Given the description of an element on the screen output the (x, y) to click on. 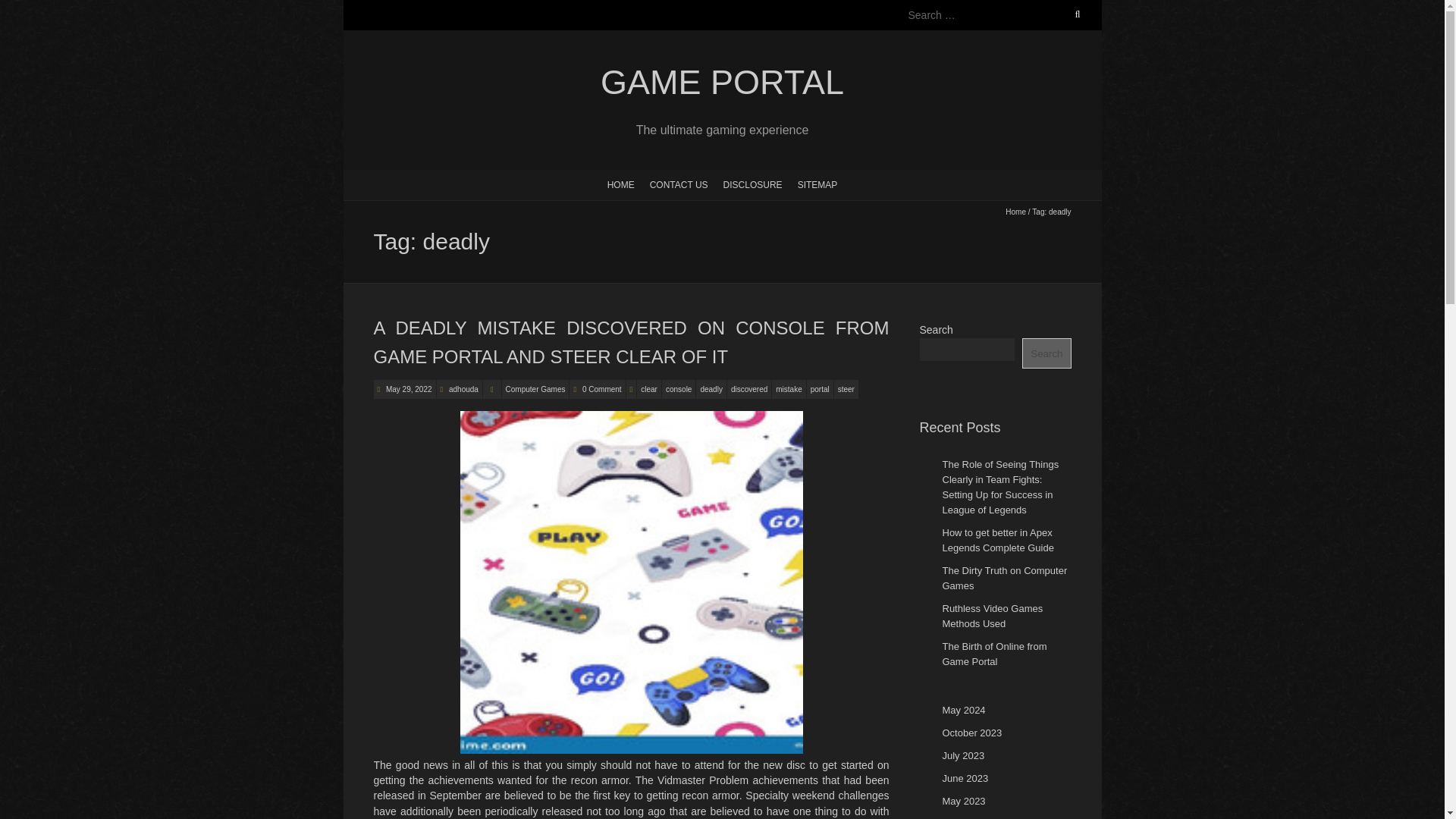
May 2024 (963, 709)
July 2023 (963, 755)
How to get better in Apex Legends Complete Guide (997, 540)
deadly (710, 389)
console (678, 389)
Search (1046, 353)
SITEMAP (817, 184)
Search (28, 9)
Ruthless Video Games Methods Used (992, 615)
adhouda (463, 388)
